Given the description of an element on the screen output the (x, y) to click on. 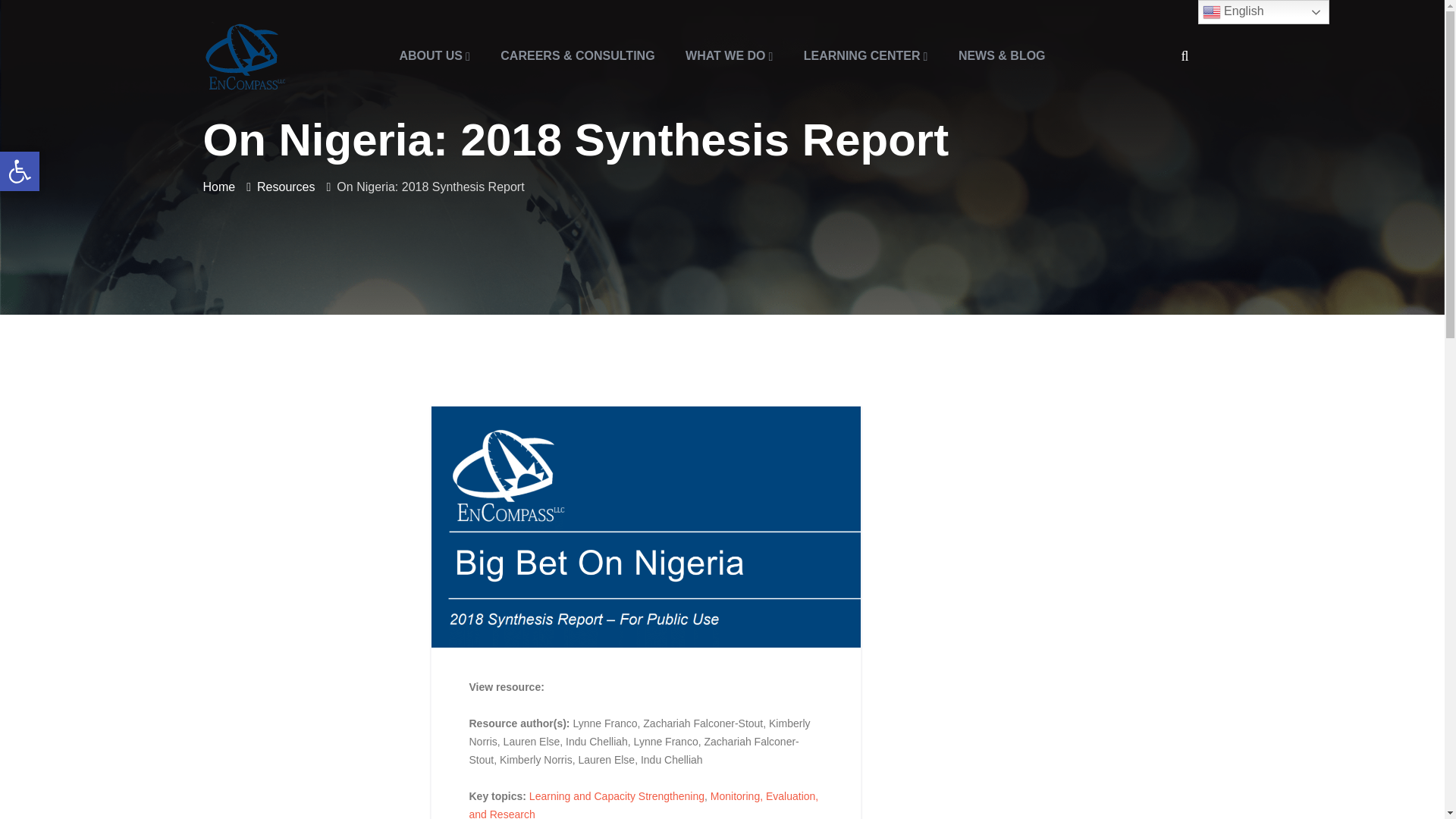
Readable Font (19, 170)
Accessibility Tools (729, 56)
Accessibility Tools (19, 170)
Links Underline (19, 170)
